Given the description of an element on the screen output the (x, y) to click on. 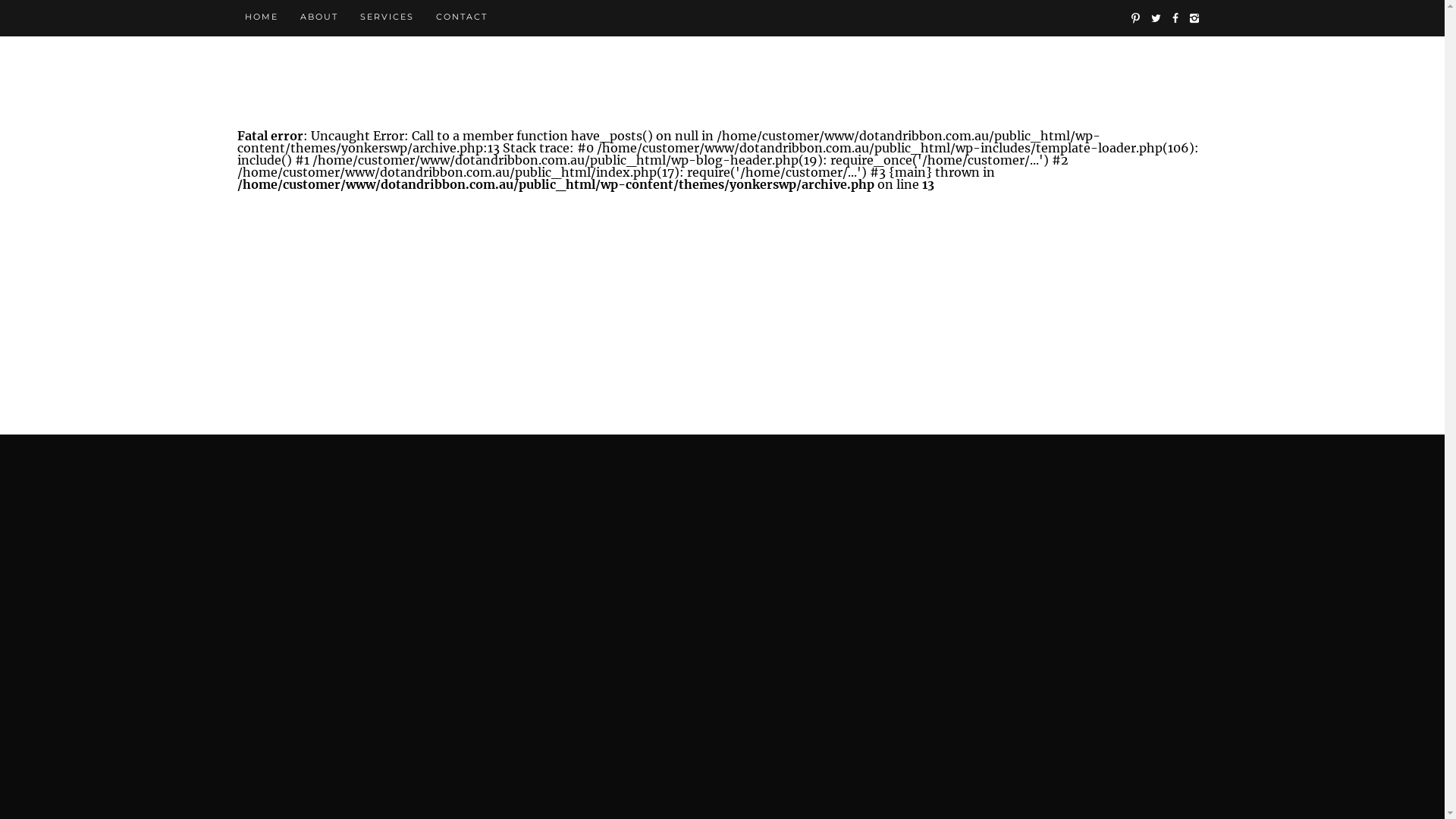
CONTACT Element type: text (460, 16)
SERVICES Element type: text (386, 16)
ABOUT Element type: text (319, 16)
HOME Element type: text (260, 16)
Yonkers Element type: text (721, 76)
